Given the description of an element on the screen output the (x, y) to click on. 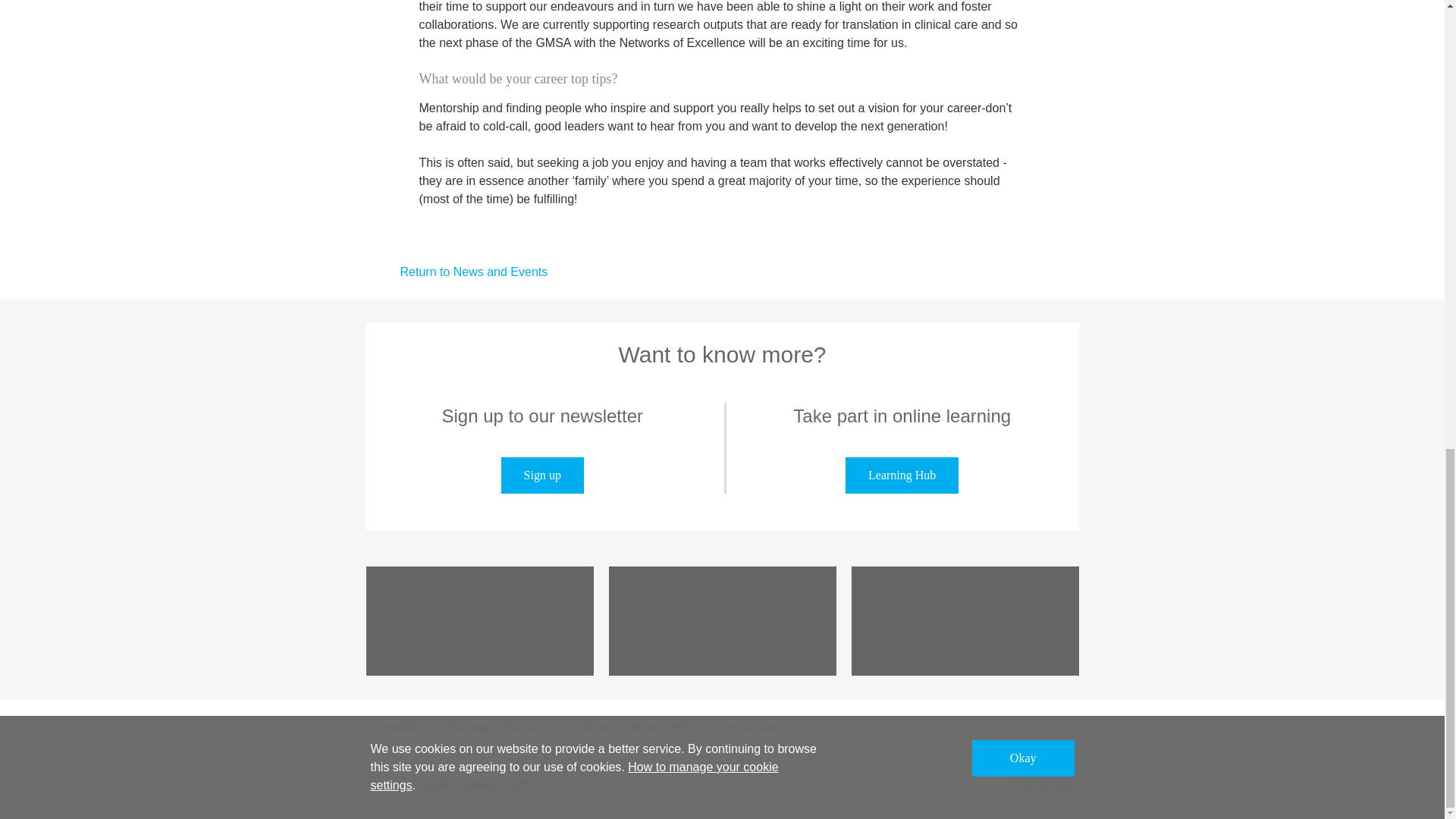
Accessibility (397, 726)
YouTube (721, 620)
Sitemap (467, 726)
Sign up (541, 475)
Disclaimer (747, 726)
Linkedin (478, 620)
Privacy Policy (667, 726)
Learning Hub (901, 475)
Twitter (964, 620)
created by tictoc (1046, 785)
Terms and Conditions (558, 726)
Site by tictoc (1046, 785)
Return to News and Events (456, 271)
